Given the description of an element on the screen output the (x, y) to click on. 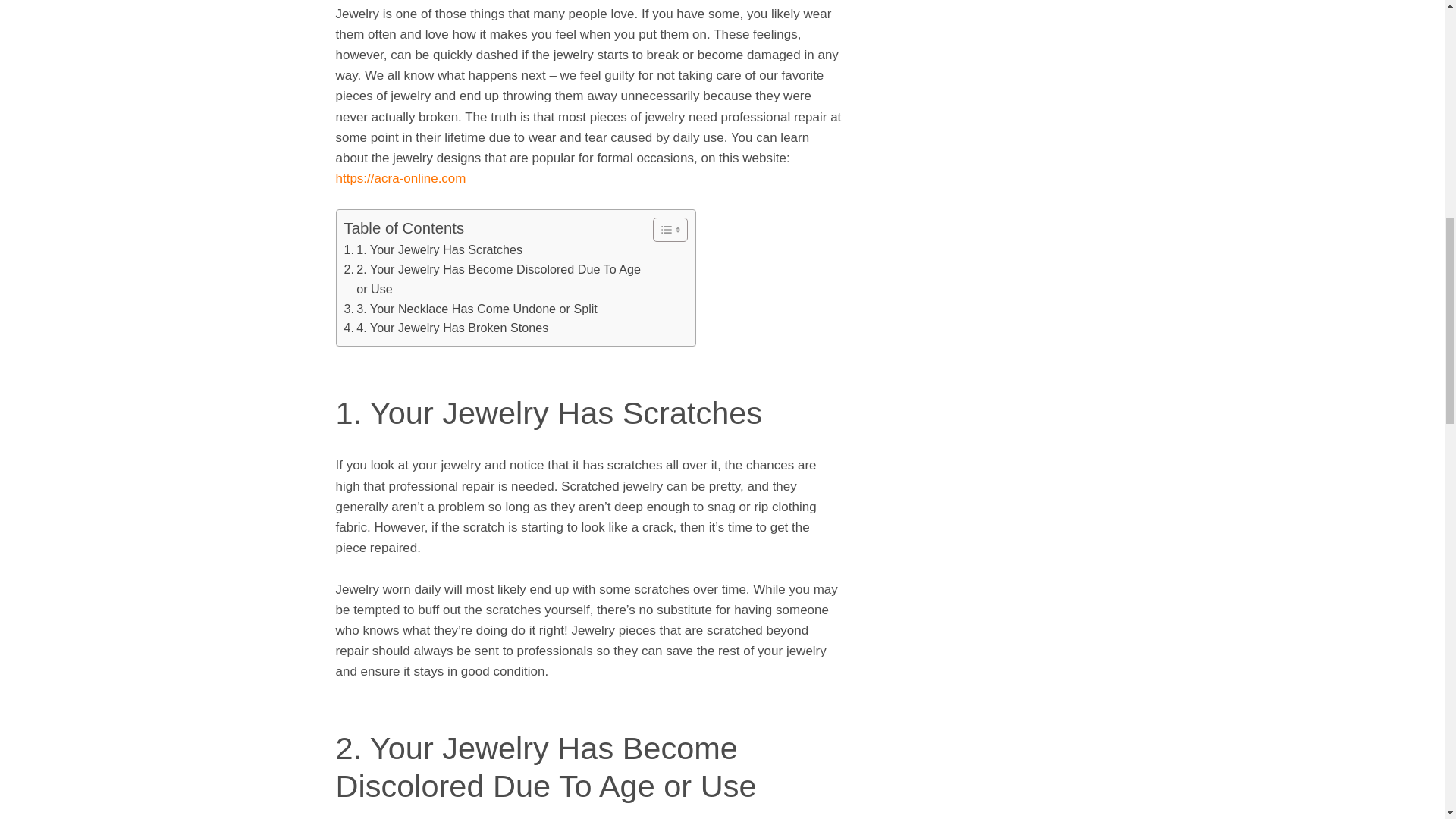
4. Your Jewelry Has Broken Stones (445, 328)
2. Your Jewelry Has Become Discolored Due To Age or Use (494, 279)
1. Your Jewelry Has Scratches (432, 250)
2. Your Jewelry Has Become Discolored Due To Age or Use (494, 279)
3. Your Necklace Has Come Undone or Split (469, 309)
1. Your Jewelry Has Scratches (432, 250)
4. Your Jewelry Has Broken Stones (445, 328)
3. Your Necklace Has Come Undone or Split (469, 309)
